Given the description of an element on the screen output the (x, y) to click on. 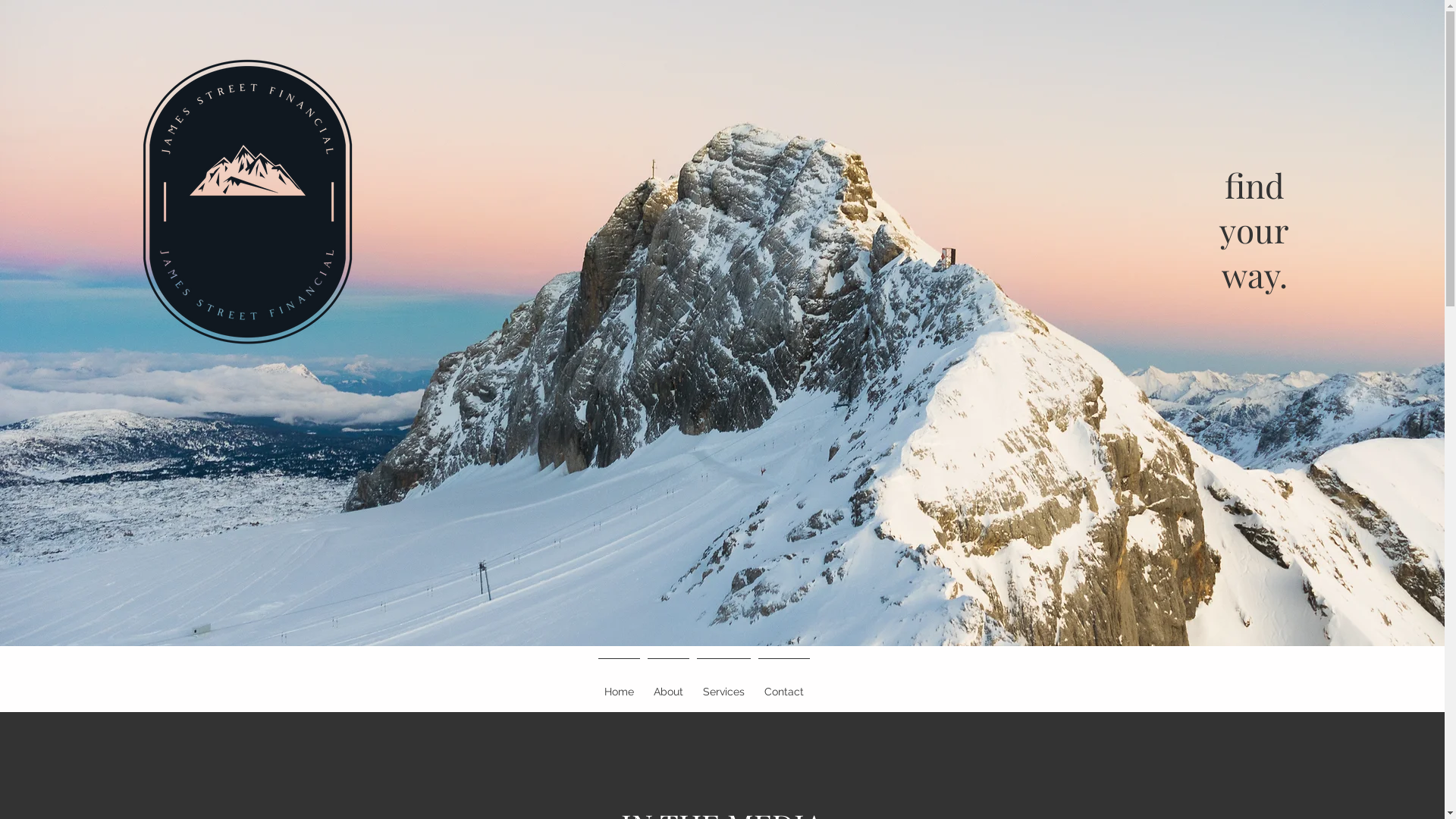
About Element type: text (667, 685)
Contact Element type: text (782, 685)
Services Element type: text (723, 685)
full_margin_transparent_customcolor.png Element type: hover (247, 201)
Home Element type: text (618, 685)
